Given the description of an element on the screen output the (x, y) to click on. 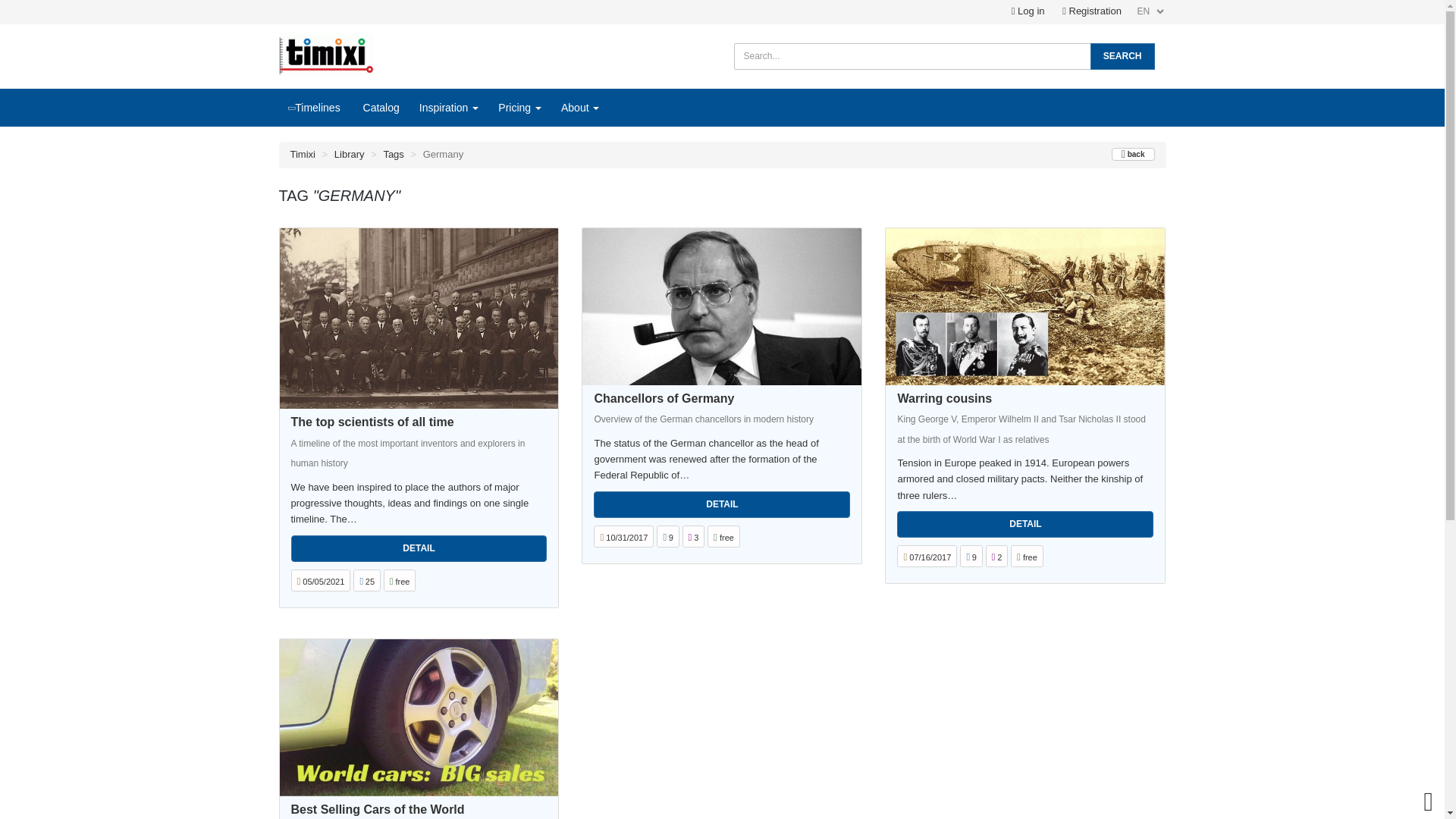
DETAIL (722, 504)
Library (349, 153)
Registration (1091, 10)
About (579, 107)
DETAIL (1024, 524)
Tags (392, 153)
Log in (1028, 10)
Inspiration (448, 107)
Catalog (379, 107)
